Given the description of an element on the screen output the (x, y) to click on. 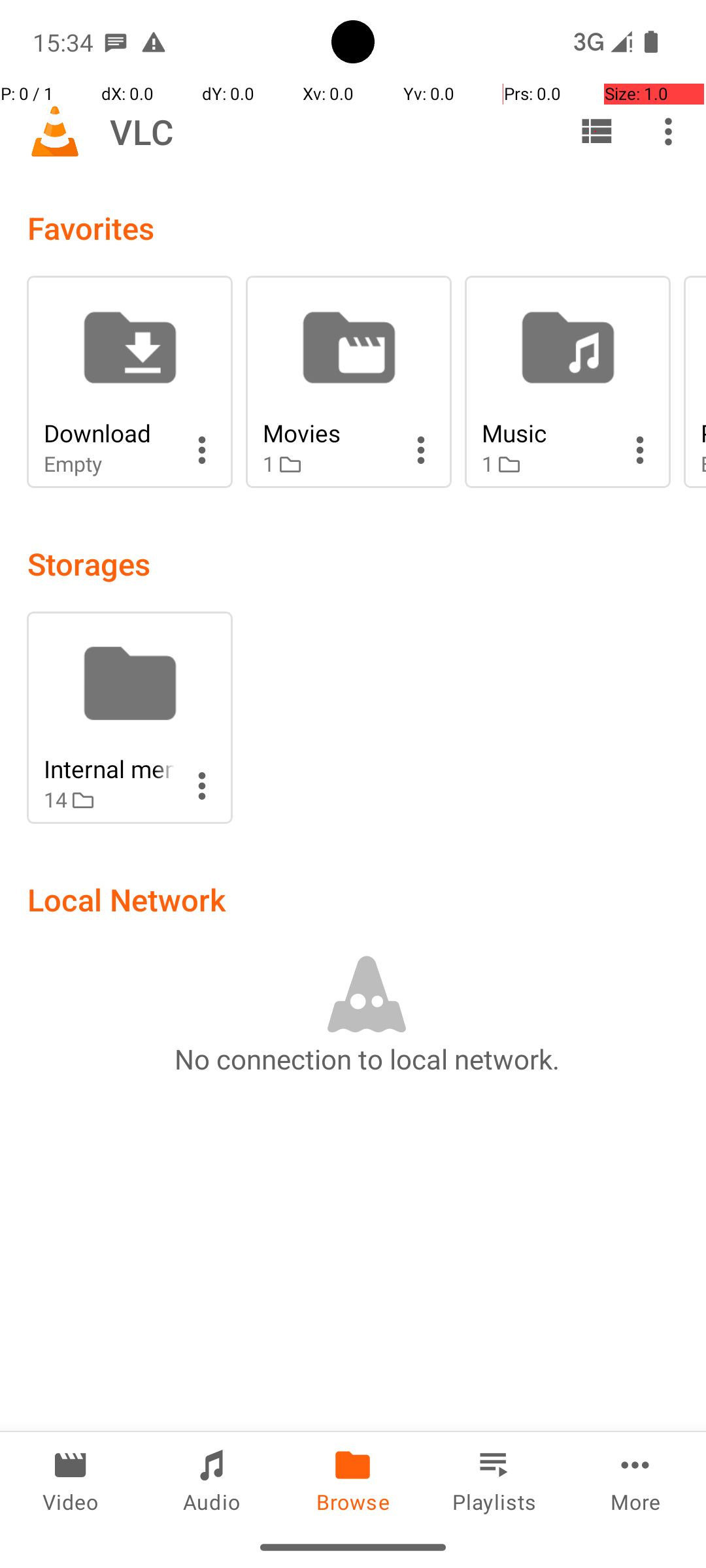
Display in list Element type: android.widget.TextView (595, 131)
Storages Element type: android.widget.TextView (88, 563)
Local Network Element type: android.widget.TextView (126, 898)
No connection to local network. Element type: android.widget.TextView (366, 1058)
Favorite: Download, Empty Element type: androidx.cardview.widget.CardView (129, 381)
Favorite: Movies, 1 subfolder Element type: androidx.cardview.widget.CardView (348, 381)
Favorite: Music, 1 subfolder Element type: androidx.cardview.widget.CardView (567, 381)
Favorite: Podcasts, Empty Element type: androidx.cardview.widget.CardView (694, 381)
Folder: Internal memory, 14 subfolders Element type: androidx.cardview.widget.CardView (129, 717)
Empty Element type: android.widget.TextView (108, 463)
More Actions Element type: android.widget.ImageView (201, 449)
Movies Element type: android.widget.TextView (327, 432)
1 §*§ Element type: android.widget.TextView (327, 463)
Podcasts Element type: android.widget.TextView (703, 432)
Internal memory Element type: android.widget.TextView (108, 768)
14 §*§ Element type: android.widget.TextView (108, 799)
